Given the description of an element on the screen output the (x, y) to click on. 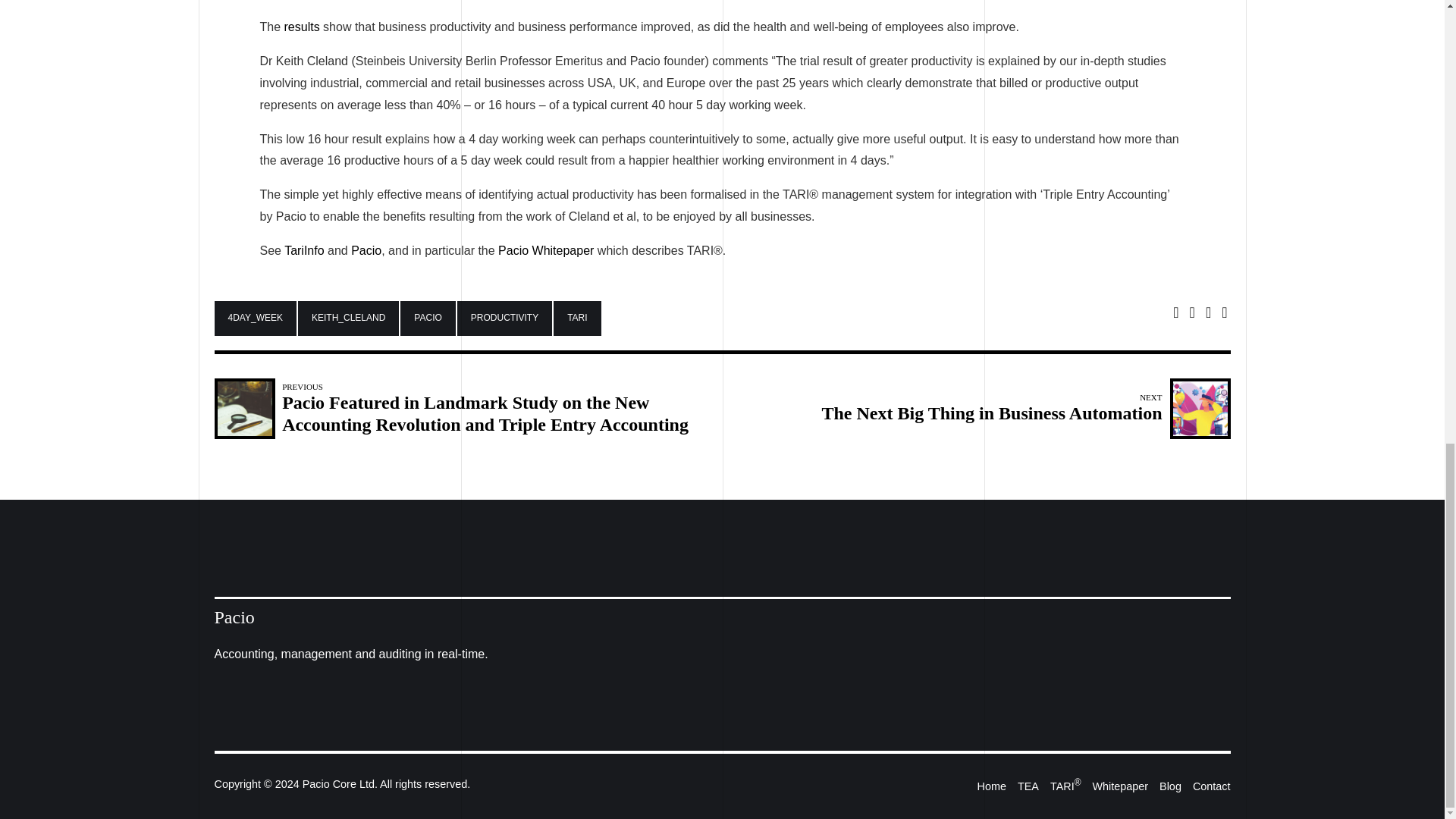
TEA (1028, 786)
Home (991, 786)
Contact (1211, 786)
Pacio (365, 250)
PRODUCTIVITY (504, 318)
Pacio Whitepaper (545, 250)
TariInfo (1021, 408)
PACIO (303, 250)
Blog (427, 318)
results (1169, 786)
TARI (301, 26)
Whitepaper (576, 318)
